Given the description of an element on the screen output the (x, y) to click on. 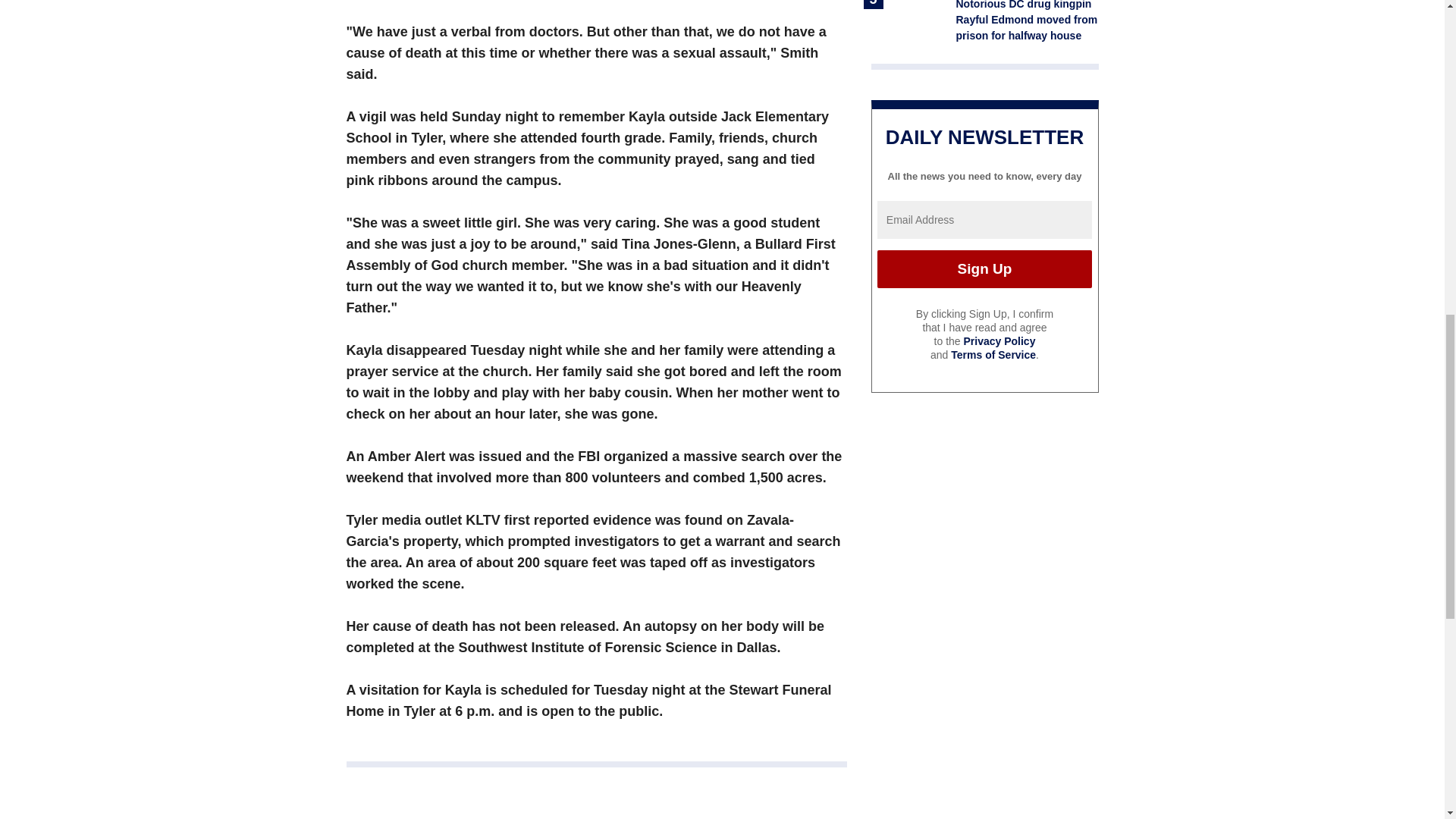
Sign Up (984, 269)
